Given the description of an element on the screen output the (x, y) to click on. 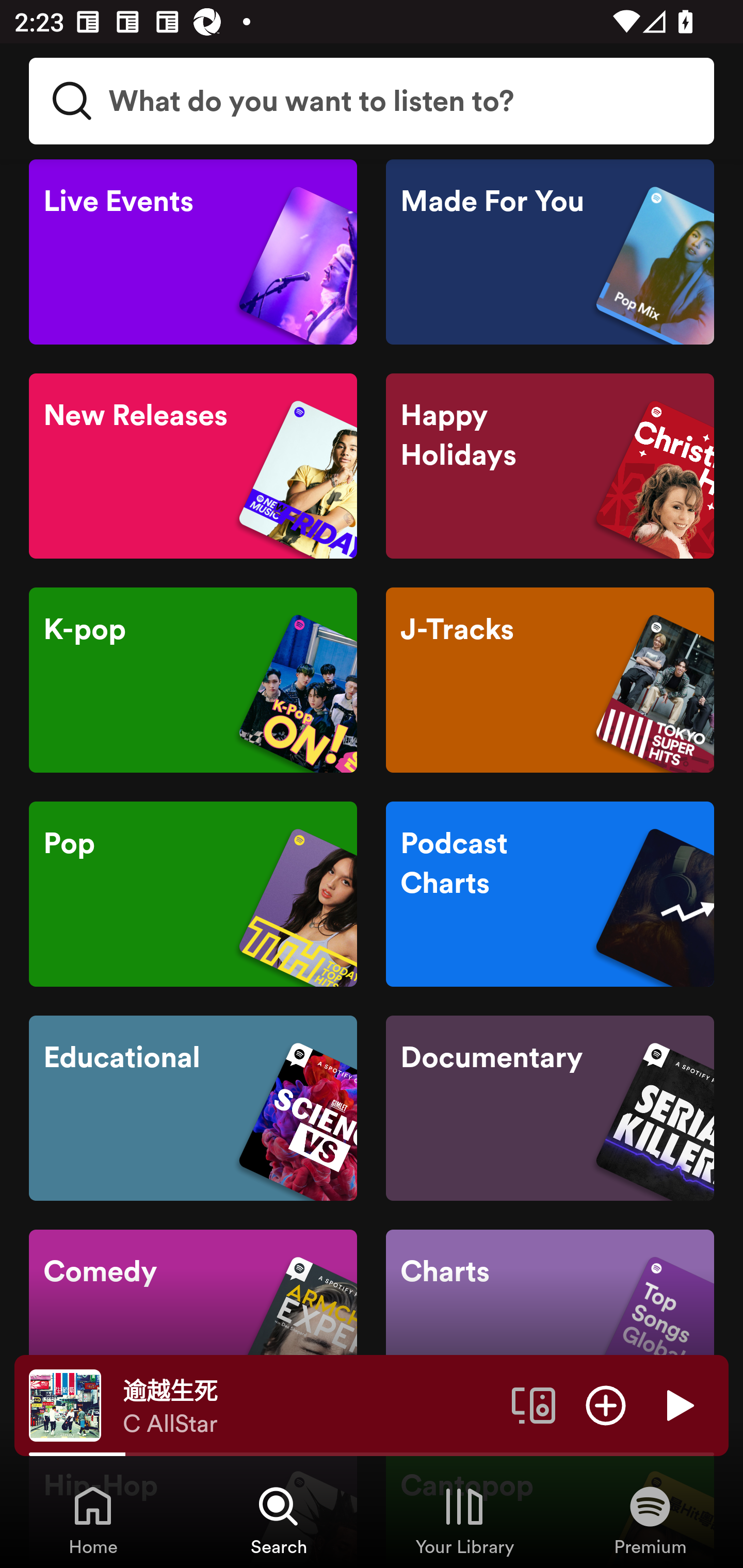
Live Events (192, 251)
Made For You (549, 251)
New Releases (192, 465)
Happy Holidays (549, 465)
K-pop (192, 680)
J-Tracks (549, 680)
Pop (192, 893)
Podcast Charts (549, 893)
Educational (192, 1108)
Documentary (549, 1108)
Comedy (192, 1321)
Charts (549, 1321)
逾越生死 C AllStar (309, 1405)
The cover art of the currently playing track (64, 1404)
Connect to a device. Opens the devices menu (533, 1404)
Add item (605, 1404)
Play (677, 1404)
Home, Tab 1 of 4 Home Home (92, 1519)
Search, Tab 2 of 4 Search Search (278, 1519)
Your Library, Tab 3 of 4 Your Library Your Library (464, 1519)
Premium, Tab 4 of 4 Premium Premium (650, 1519)
